Given the description of an element on the screen output the (x, y) to click on. 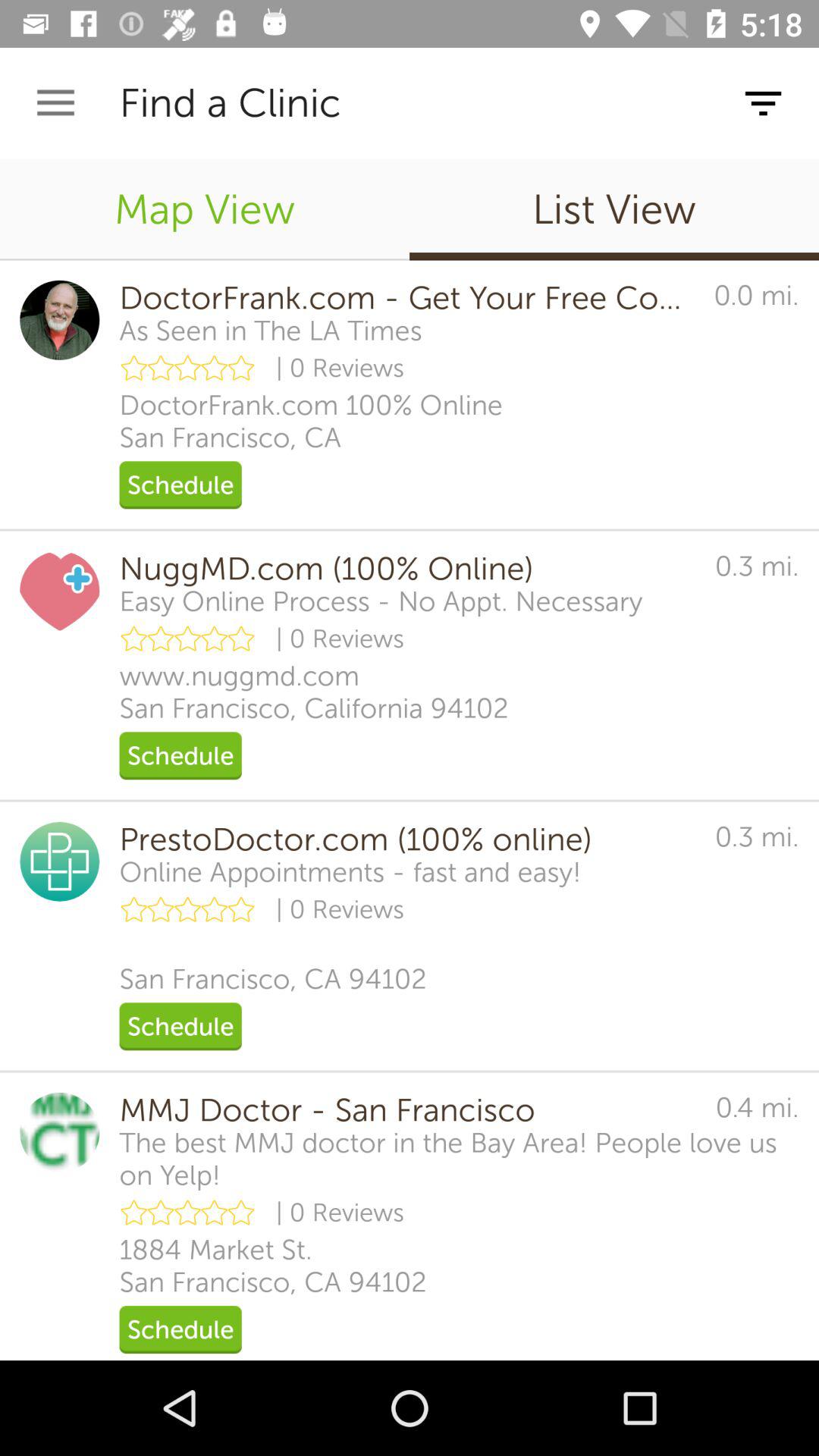
swipe until map view (204, 209)
